Given the description of an element on the screen output the (x, y) to click on. 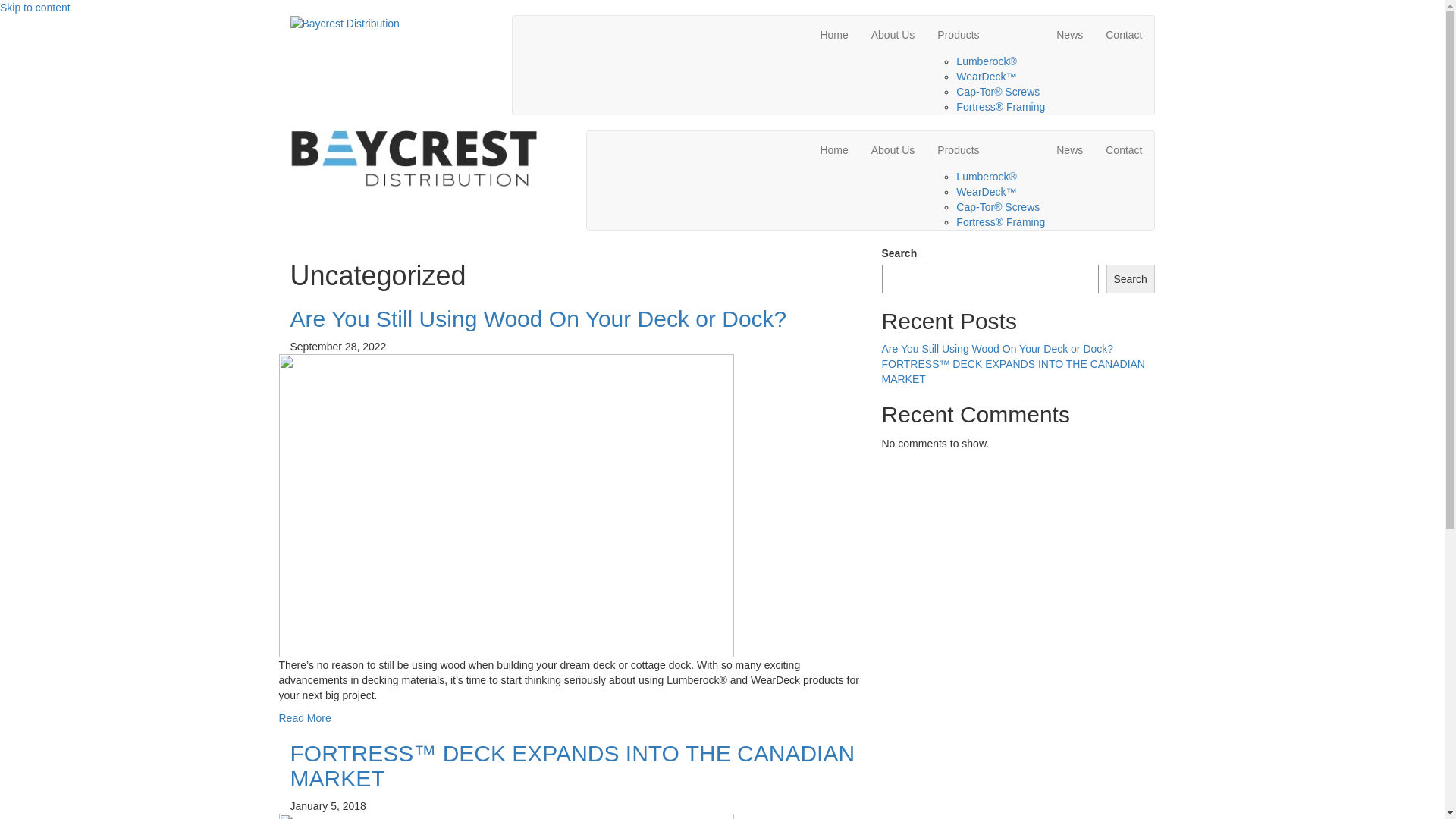
News Element type: text (1069, 34)
Home Element type: text (833, 150)
Search Element type: text (1130, 278)
Products Element type: text (984, 34)
Products Element type: text (984, 150)
Are You Still Using Wood On Your Deck or Dock? Element type: hover (506, 504)
Home Element type: text (833, 34)
About Us Element type: text (892, 150)
Contact Element type: text (1123, 150)
Are You Still Using Wood On Your Deck or Dock? Element type: text (997, 348)
Contact Element type: text (1123, 34)
News Element type: text (1069, 150)
About Us Element type: text (892, 34)
Read More Element type: text (305, 718)
Skip to content Element type: text (35, 7)
Are You Still Using Wood On Your Deck or Dock? Element type: text (537, 318)
